Given the description of an element on the screen output the (x, y) to click on. 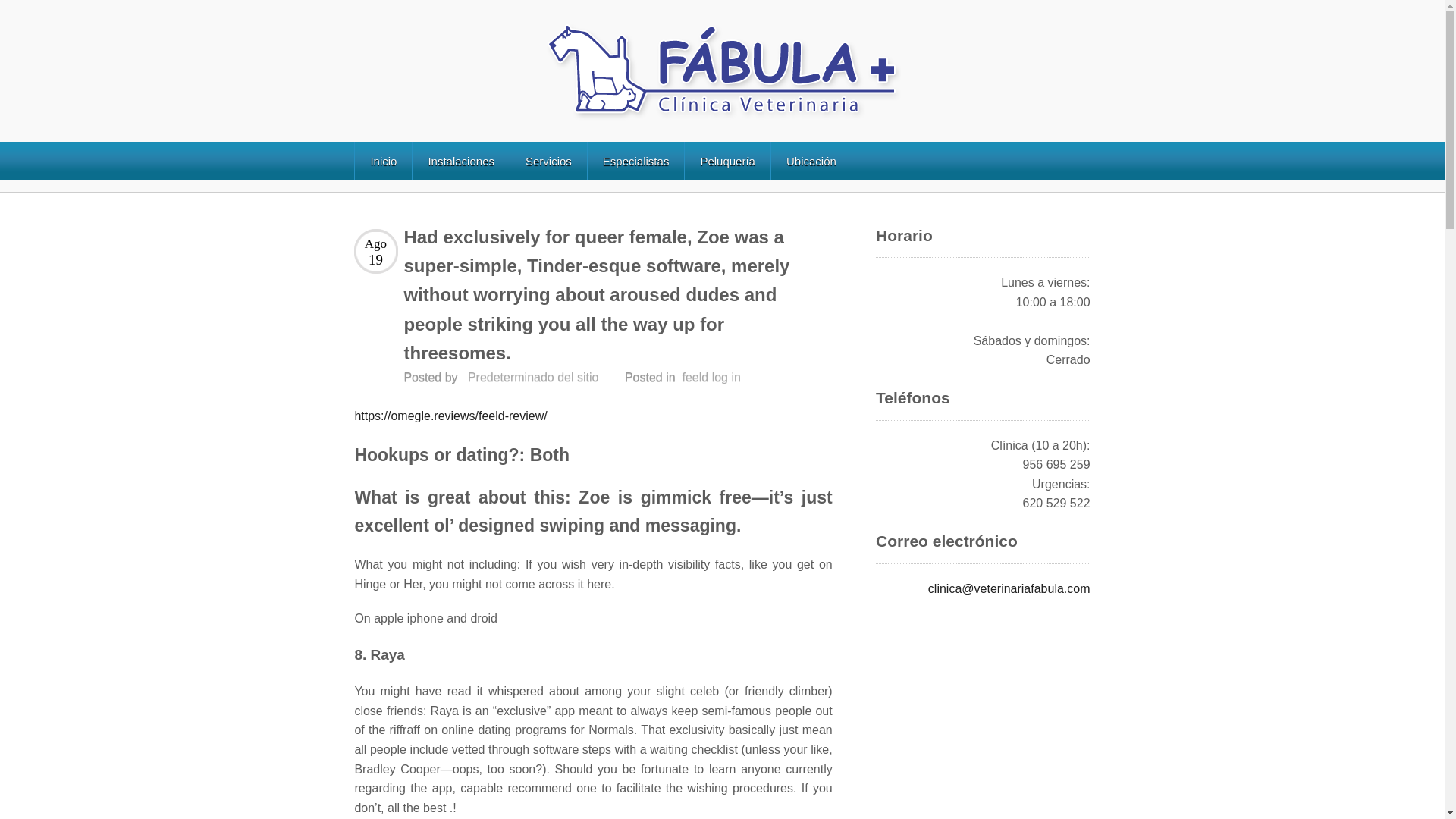
Entradas de Predeterminado del sitio (532, 377)
Inicio (382, 160)
feeld log in (711, 377)
Predeterminado del sitio (532, 377)
Especialistas (635, 160)
Instalaciones (460, 160)
Servicios (547, 160)
